Given the description of an element on the screen output the (x, y) to click on. 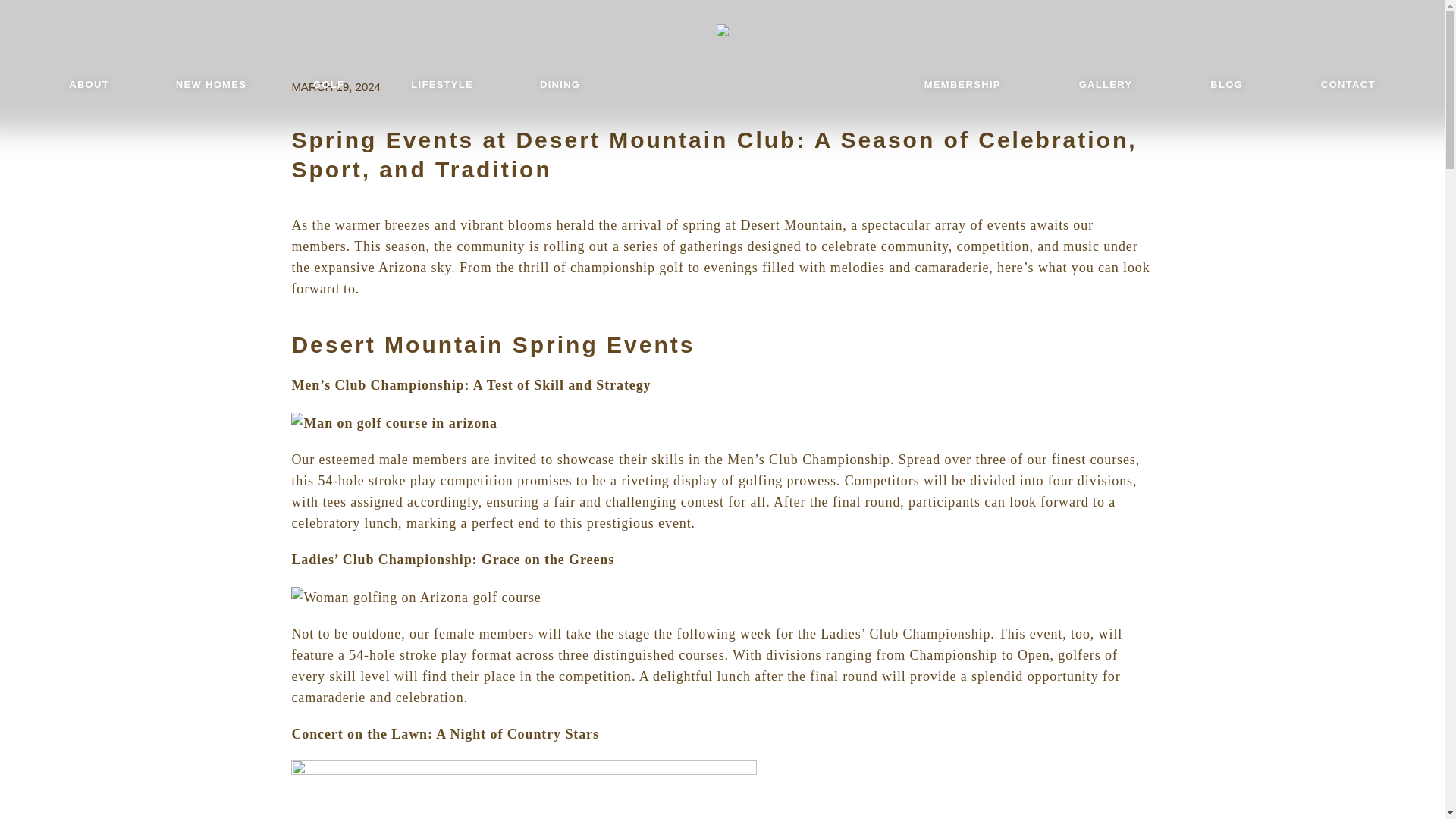
MEMBERSHIP (961, 84)
DINING (559, 84)
ABOUT (89, 84)
BLOG (1225, 84)
NEW HOMES (210, 84)
GALLERY (1105, 84)
CONTACT (1347, 84)
GOLF (328, 84)
LIFESTYLE (441, 84)
